Given the description of an element on the screen output the (x, y) to click on. 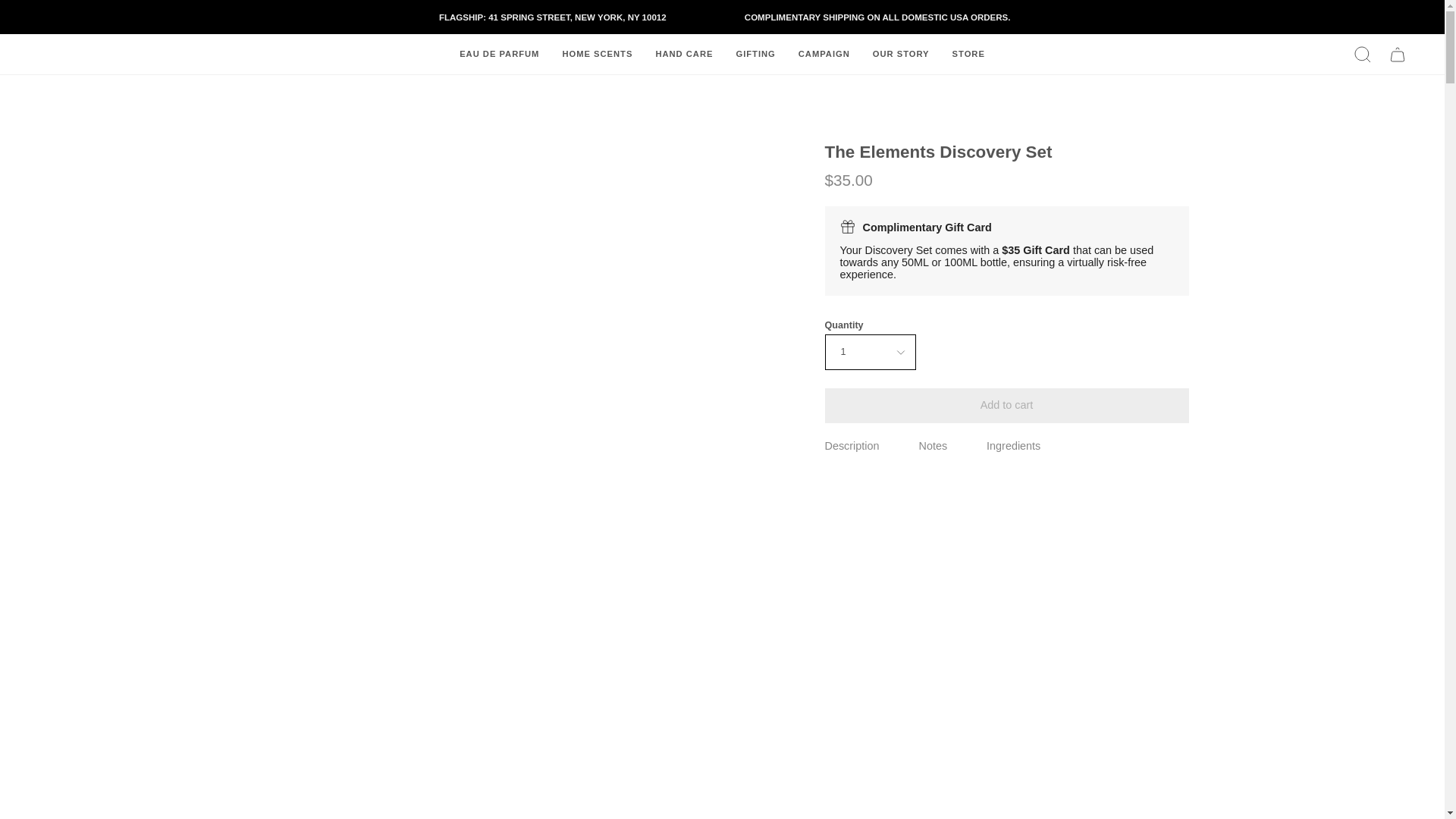
HAND CARE (683, 54)
OUR STORY (900, 54)
CAMPAIGN (824, 54)
Cart (1397, 54)
GIFTING (754, 54)
Search (1362, 54)
CART (1397, 54)
SEARCH (1362, 54)
HOME SCENTS (596, 54)
EAU DE PARFUM (499, 54)
STORE (967, 54)
